Given the description of an element on the screen output the (x, y) to click on. 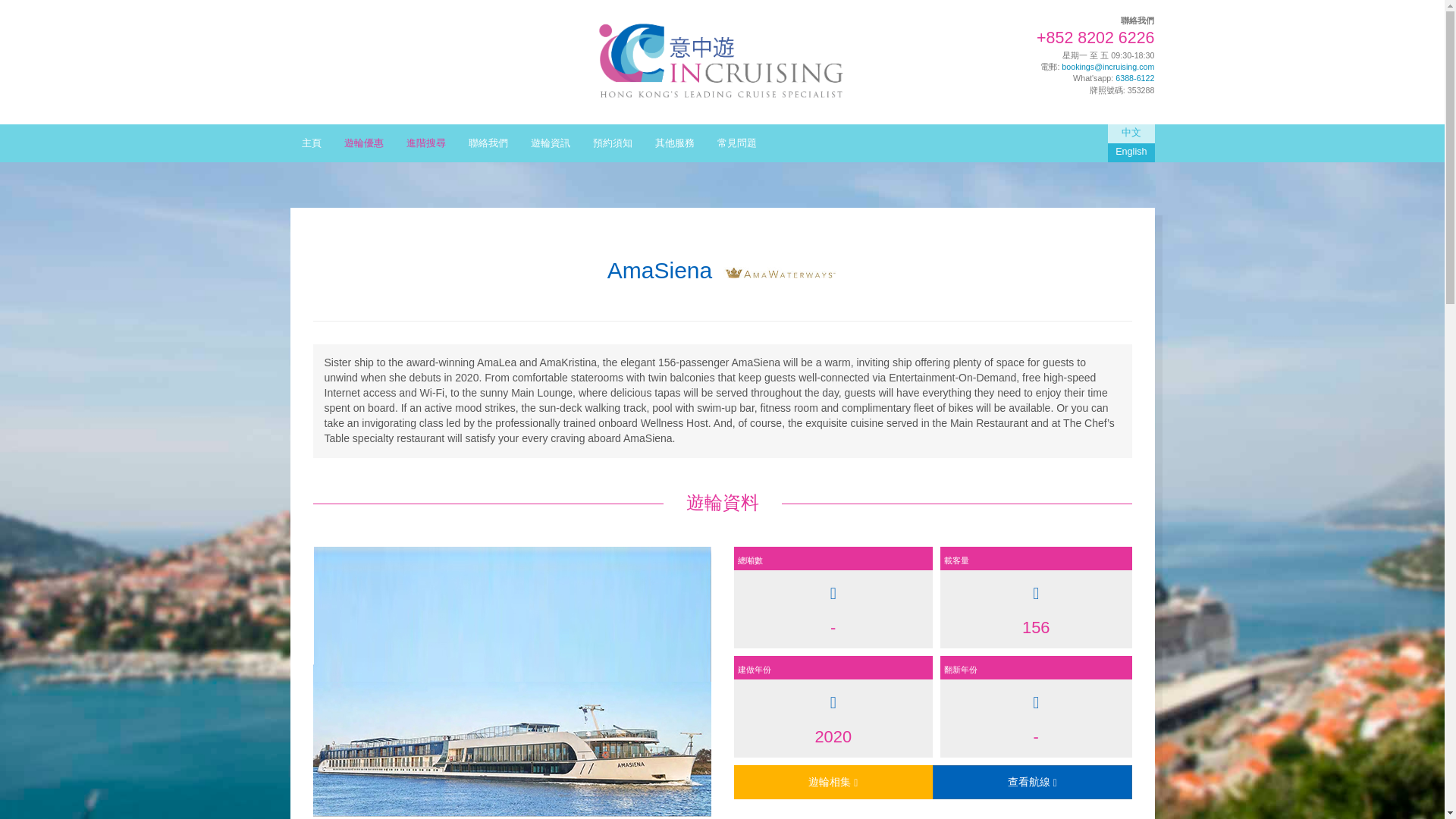
6388-6122 (1134, 77)
English (1131, 152)
